Given the description of an element on the screen output the (x, y) to click on. 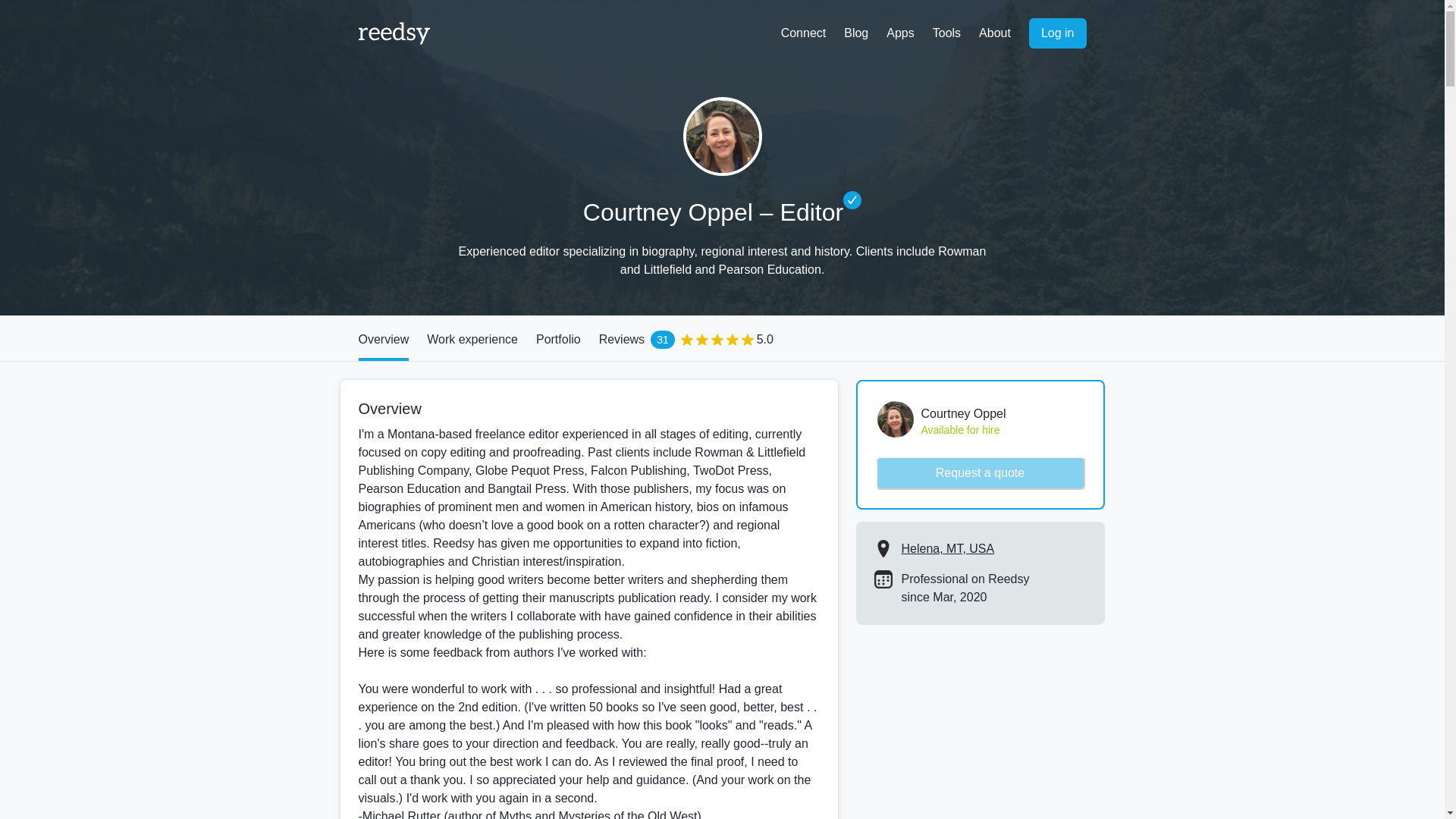
Reedsy (722, 338)
Portfolio (393, 33)
Courtney Oppel (557, 338)
Log in (721, 136)
Connect (1057, 33)
Work experience (803, 32)
Reviews (722, 338)
